Given the description of an element on the screen output the (x, y) to click on. 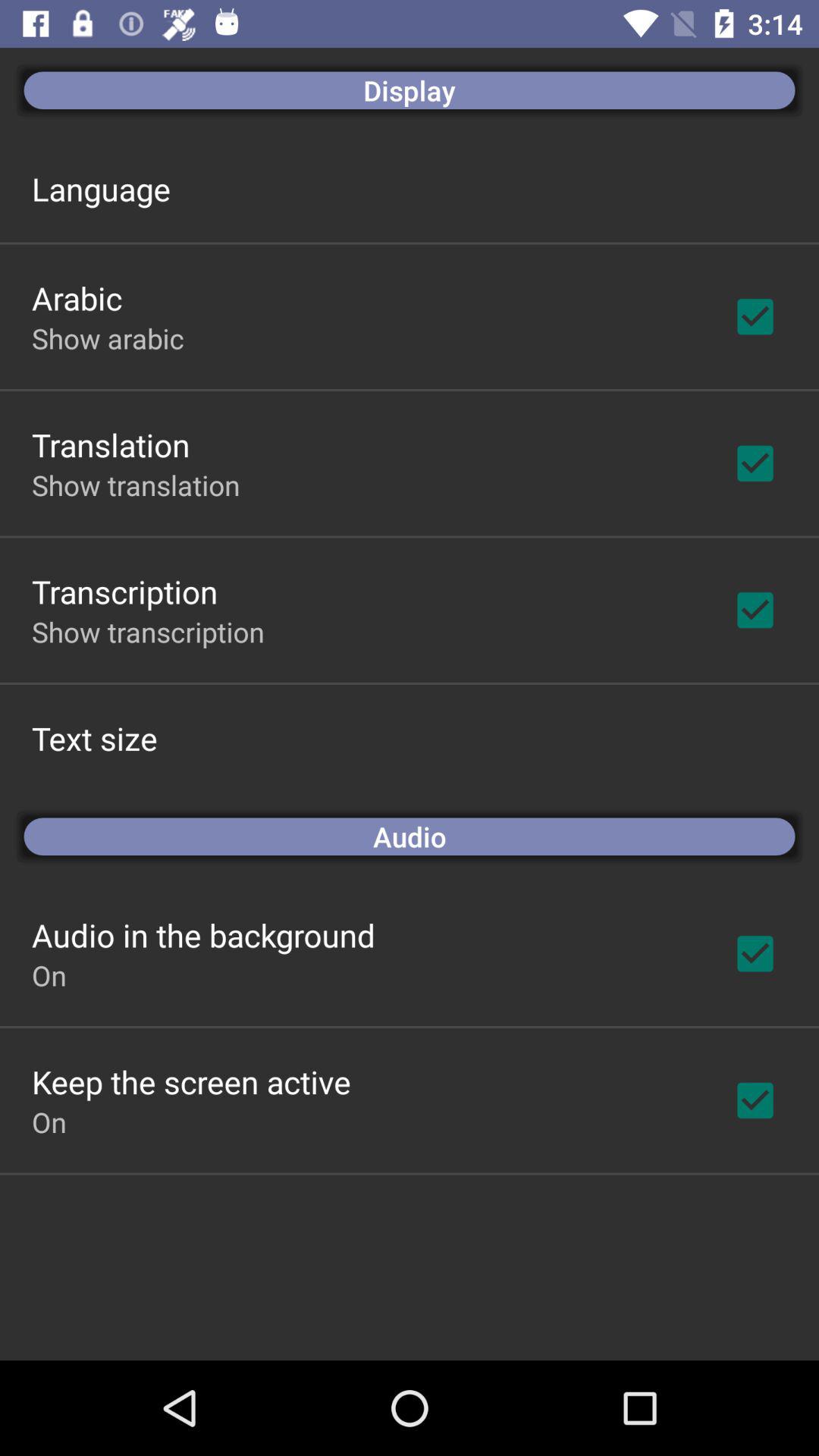
click the app above language app (409, 90)
